Given the description of an element on the screen output the (x, y) to click on. 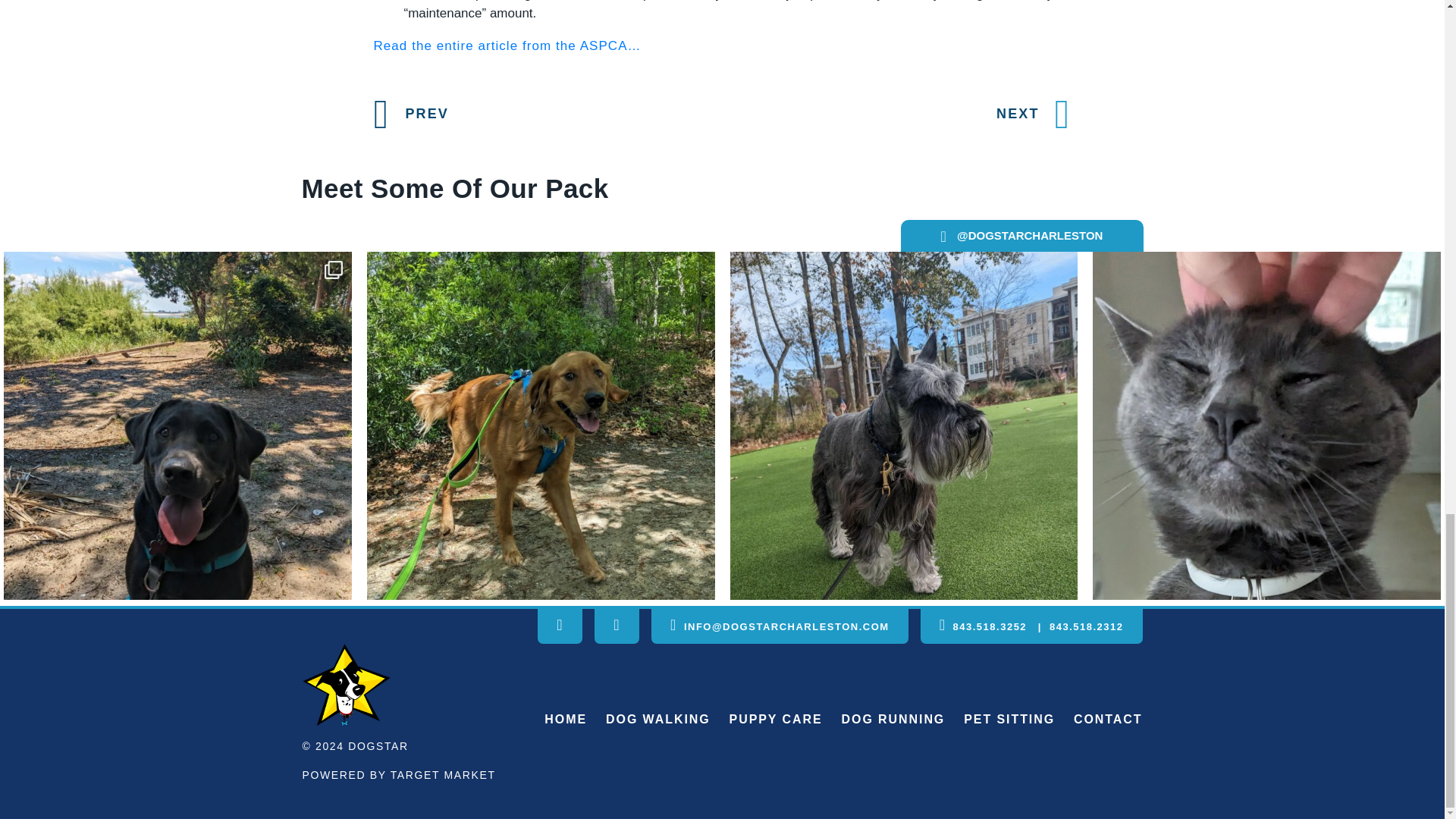
Feeding Adult Dogs (506, 45)
dogstar logo (345, 684)
